Given the description of an element on the screen output the (x, y) to click on. 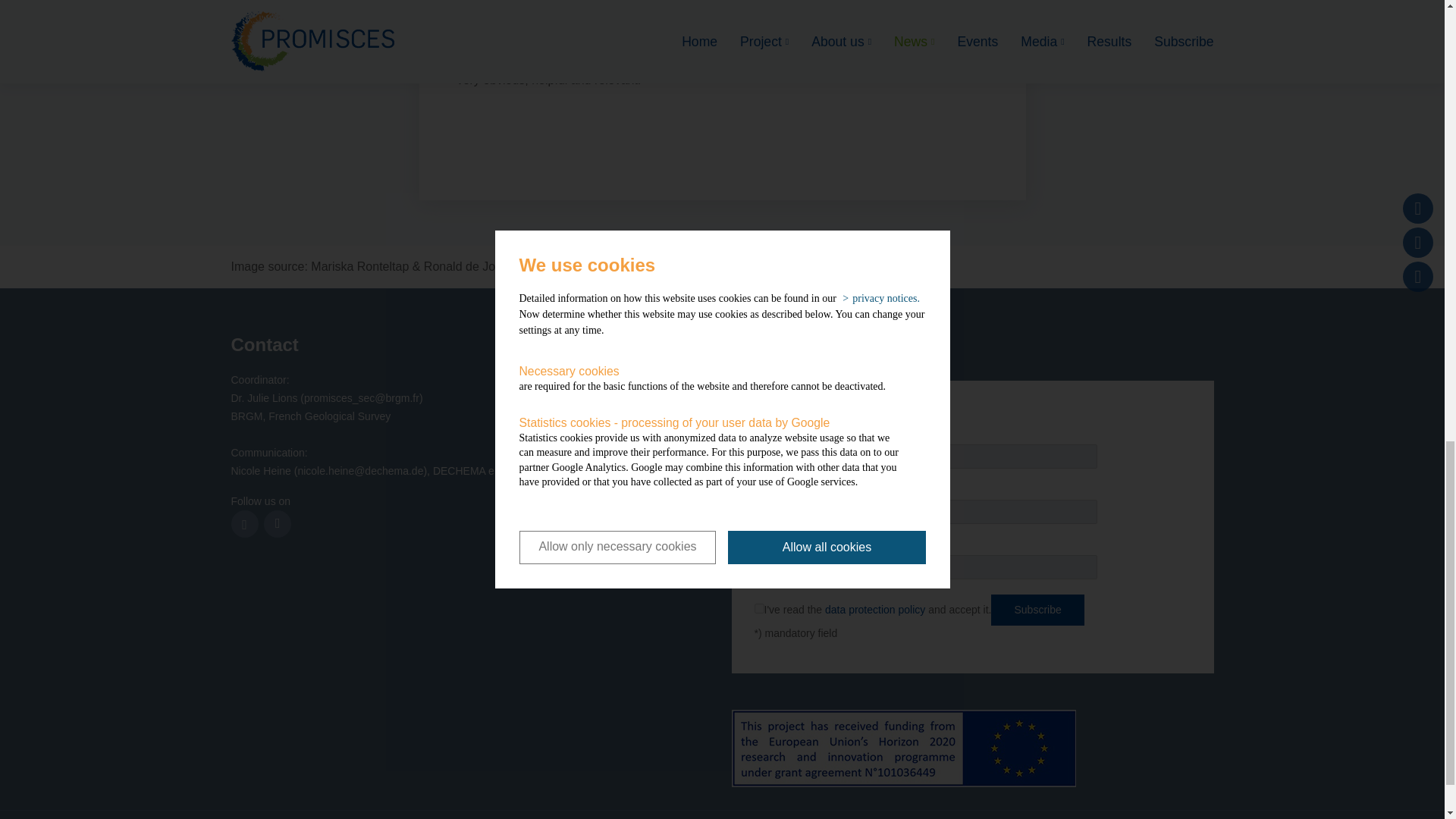
Subscribe (1037, 609)
data protection policy (874, 609)
